Given the description of an element on the screen output the (x, y) to click on. 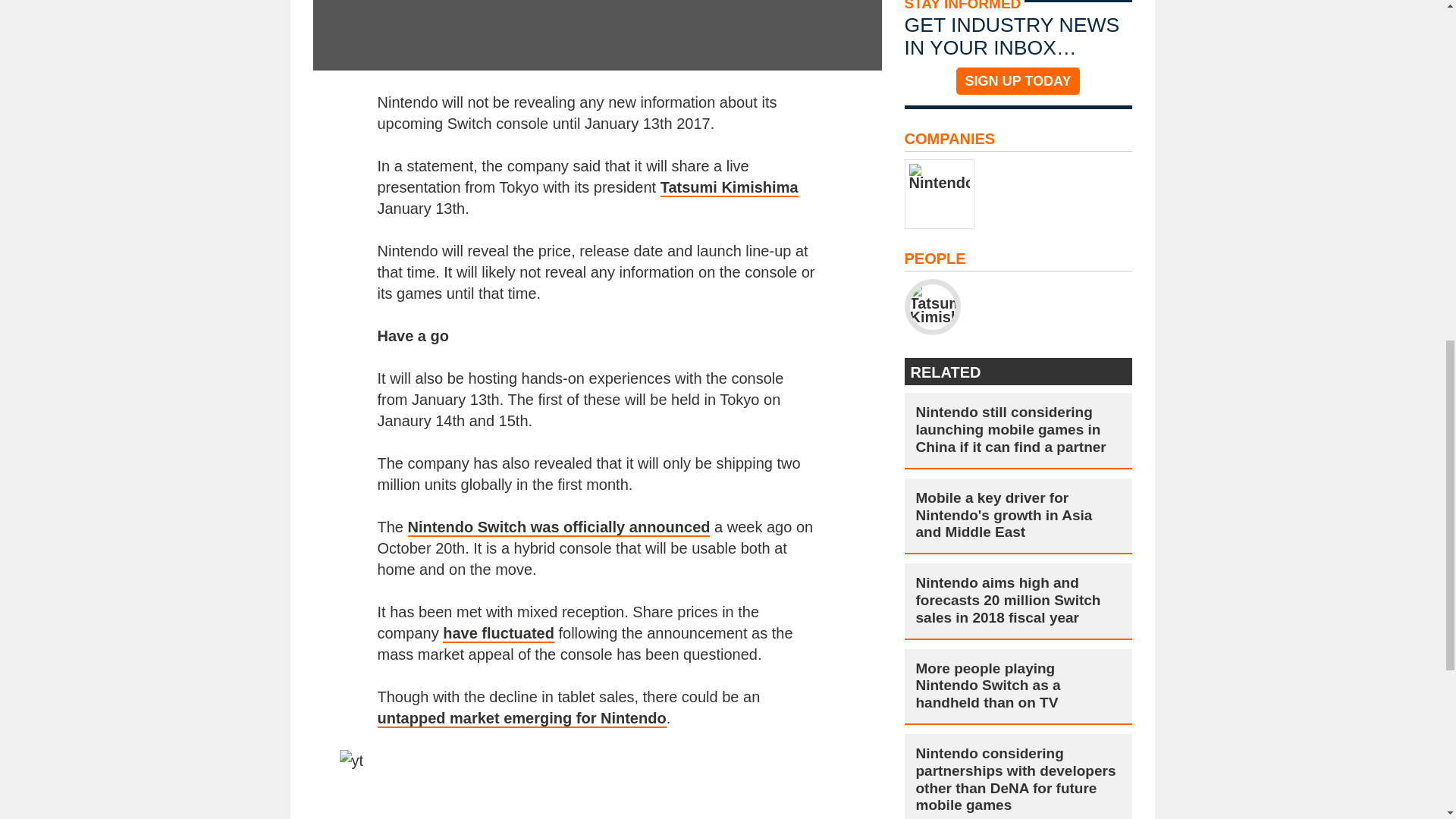
Nintendo Switch was officially announced (558, 527)
untapped market emerging for Nintendo (521, 719)
have fluctuated (498, 633)
More people playing Nintendo Switch as a handheld than on TV (1017, 686)
Tatsumi Kimishima (729, 188)
